Given the description of an element on the screen output the (x, y) to click on. 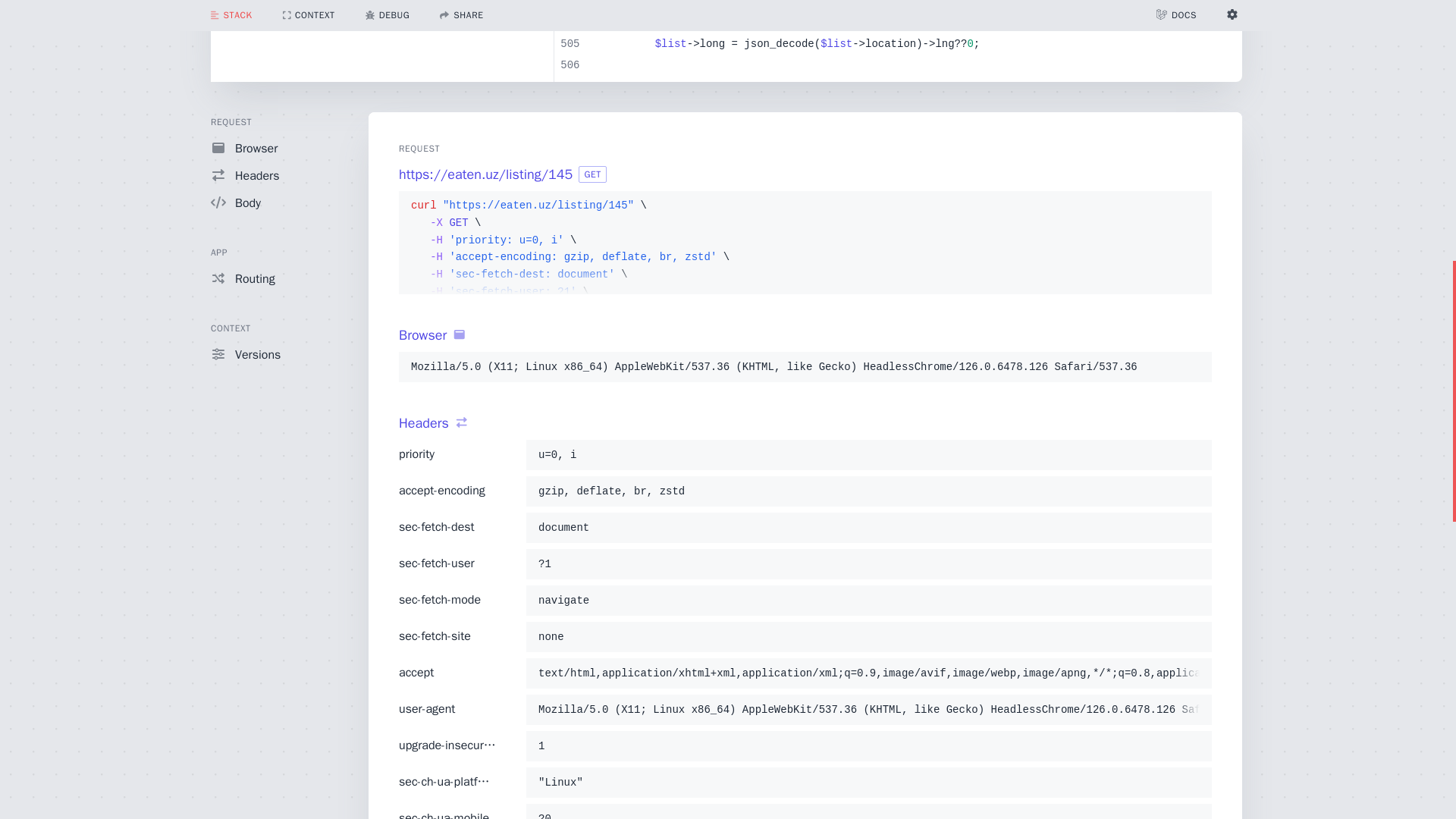
navigate (868, 600)
?0 (868, 814)
1 (868, 746)
none (868, 637)
document (868, 527)
gzip, deflate, br, zstd (868, 491)
?1 (868, 564)
"Linux" (868, 782)
